Given the description of an element on the screen output the (x, y) to click on. 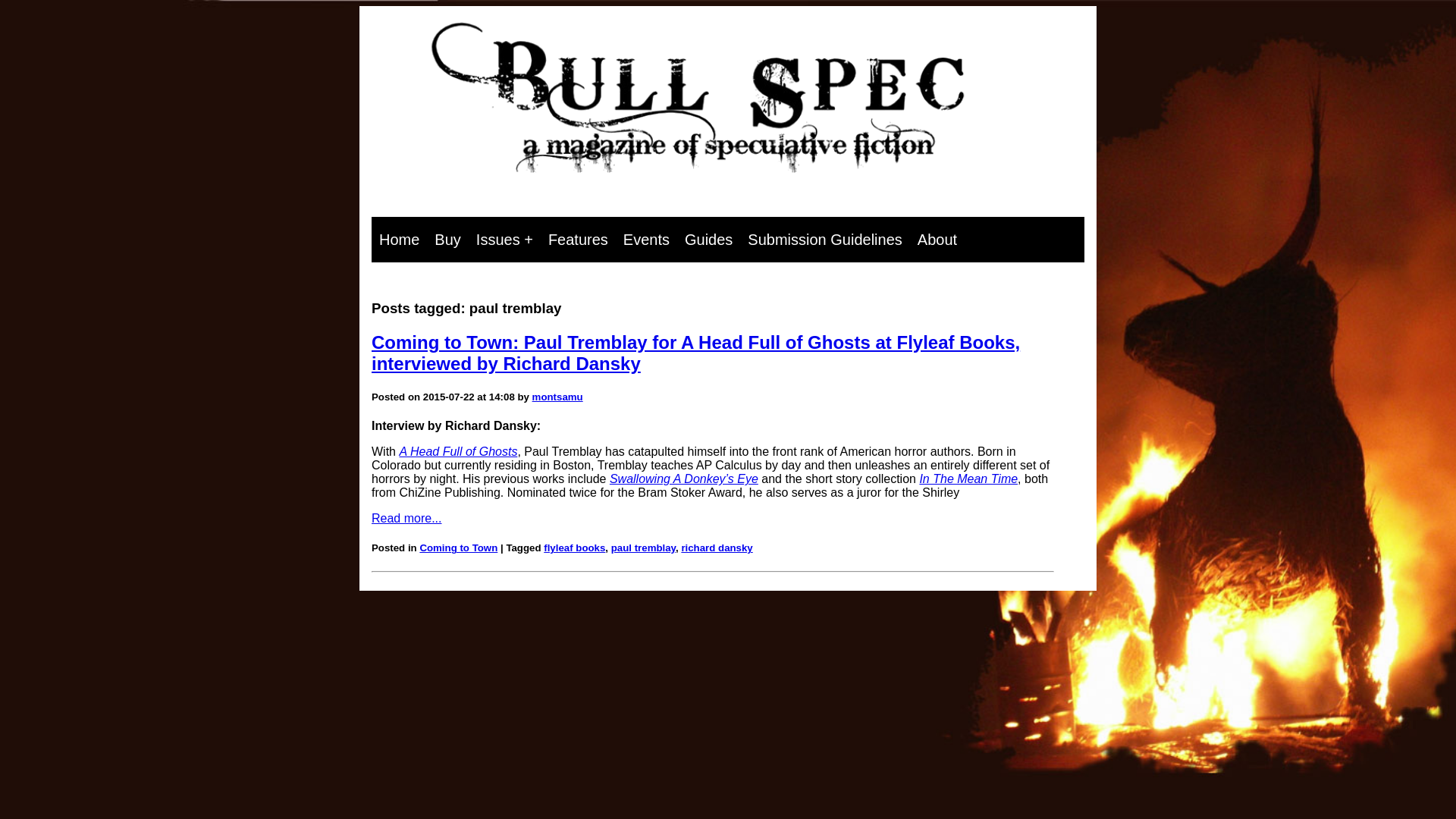
In The Mean Time (967, 478)
paul tremblay (643, 547)
A Head Full of Ghosts (457, 451)
Coming to Town (458, 547)
Issues (504, 239)
flyleaf books (574, 547)
Features (577, 239)
Read more... (406, 517)
Events (646, 239)
